Given the description of an element on the screen output the (x, y) to click on. 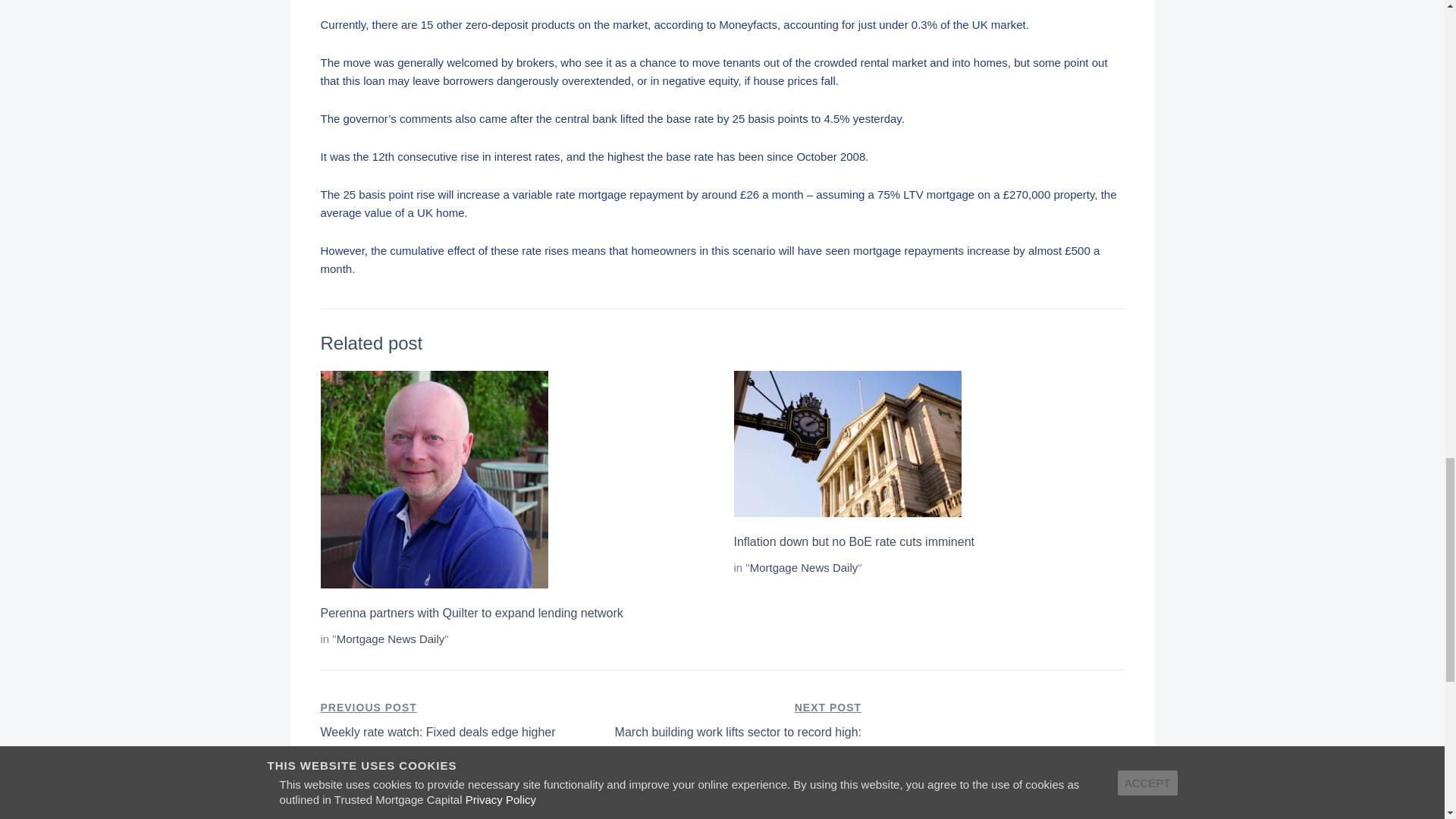
Mortgage News Daily (390, 638)
Inflation down but no BoE rate cuts imminent (449, 721)
Mortgage News Daily (854, 541)
Perenna partners with Quilter to expand lending network (804, 567)
